Given the description of an element on the screen output the (x, y) to click on. 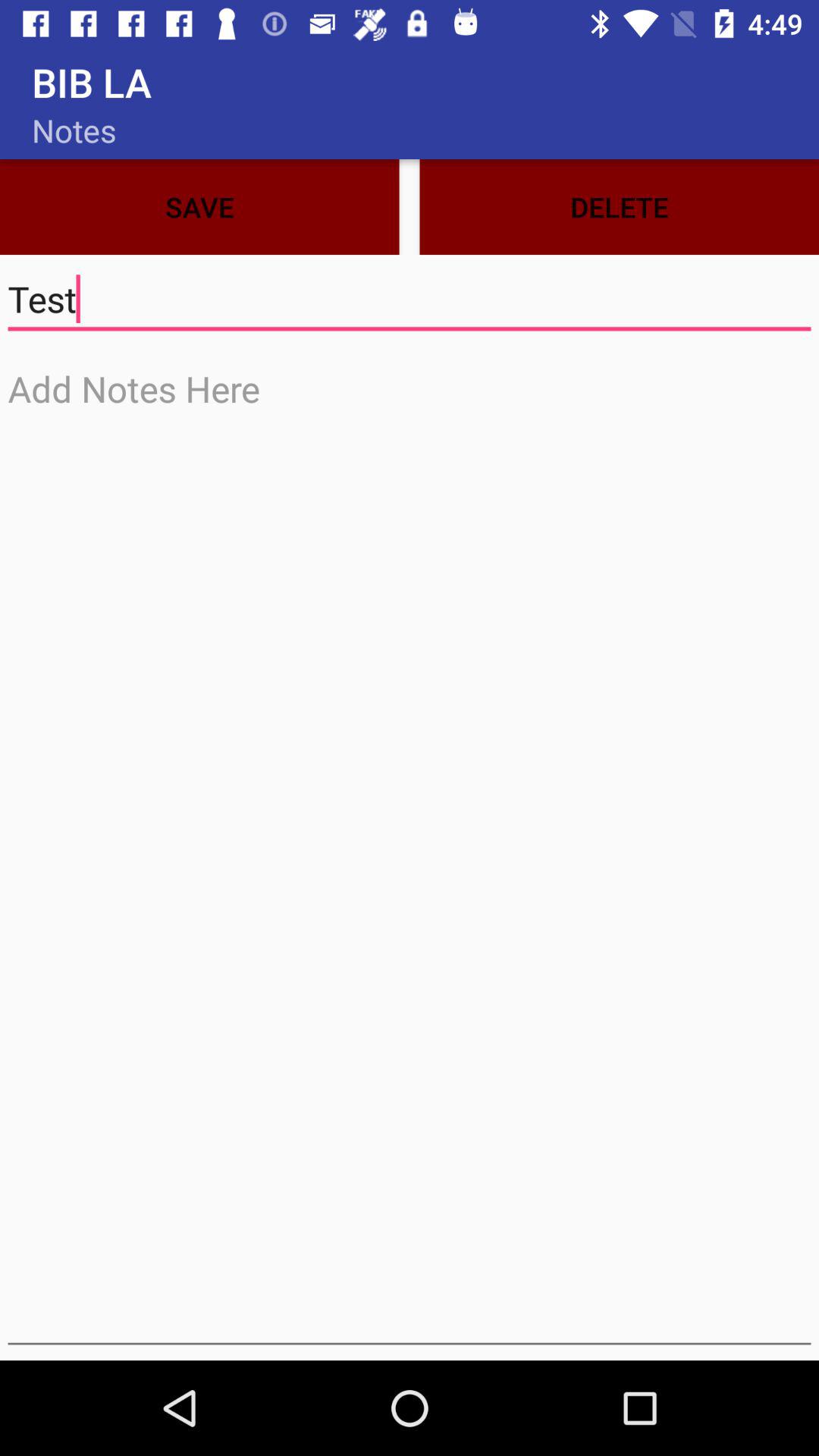
turn off the icon below notes icon (199, 206)
